Given the description of an element on the screen output the (x, y) to click on. 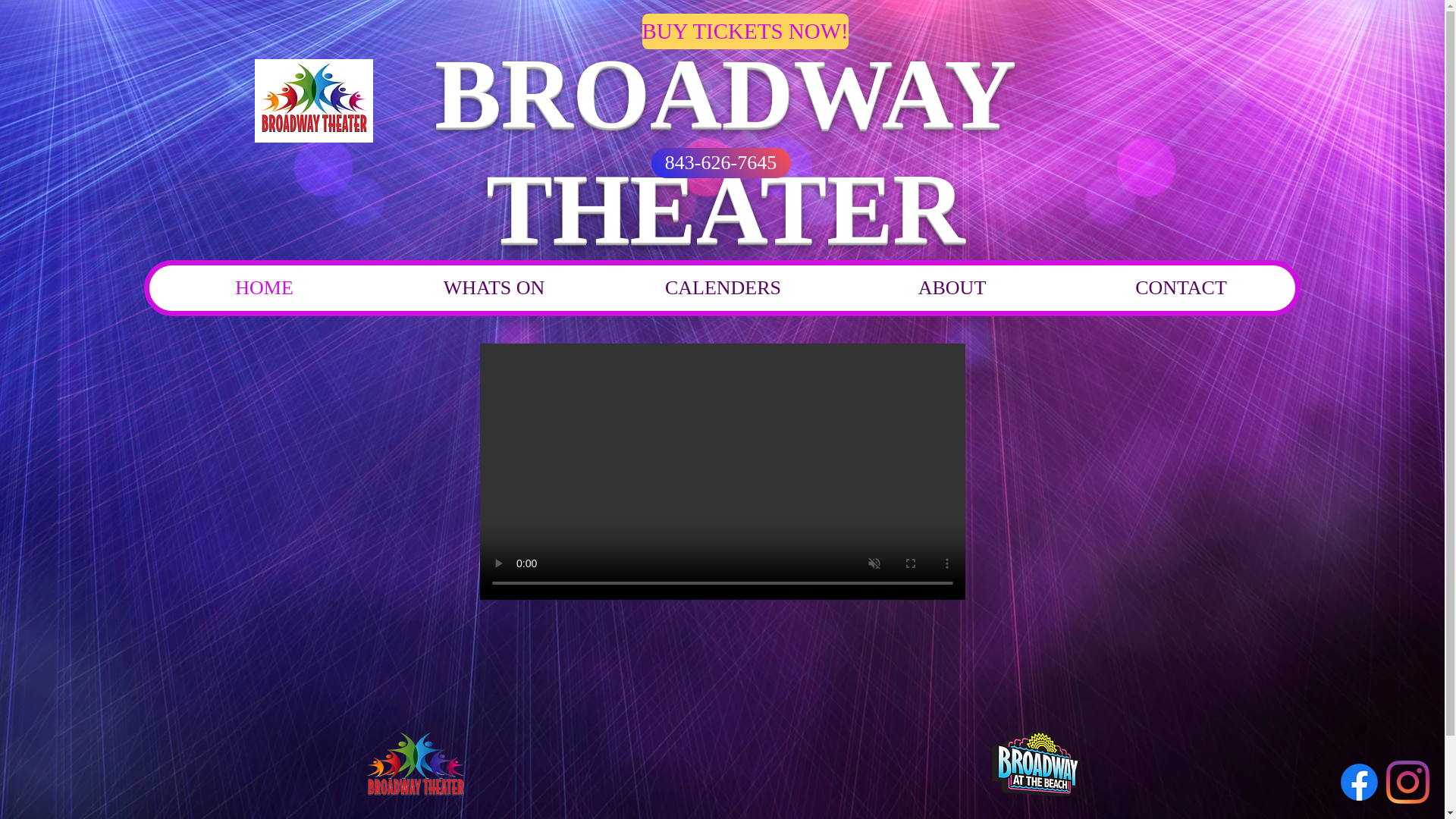
CALENDERS (722, 288)
843-626-7645 (720, 163)
HOME (263, 288)
BROADWAY THEATER (724, 150)
BUY TICKETS NOW! (744, 31)
CONTACT (1180, 288)
ABOUT (951, 288)
WHATS ON (493, 288)
